Given the description of an element on the screen output the (x, y) to click on. 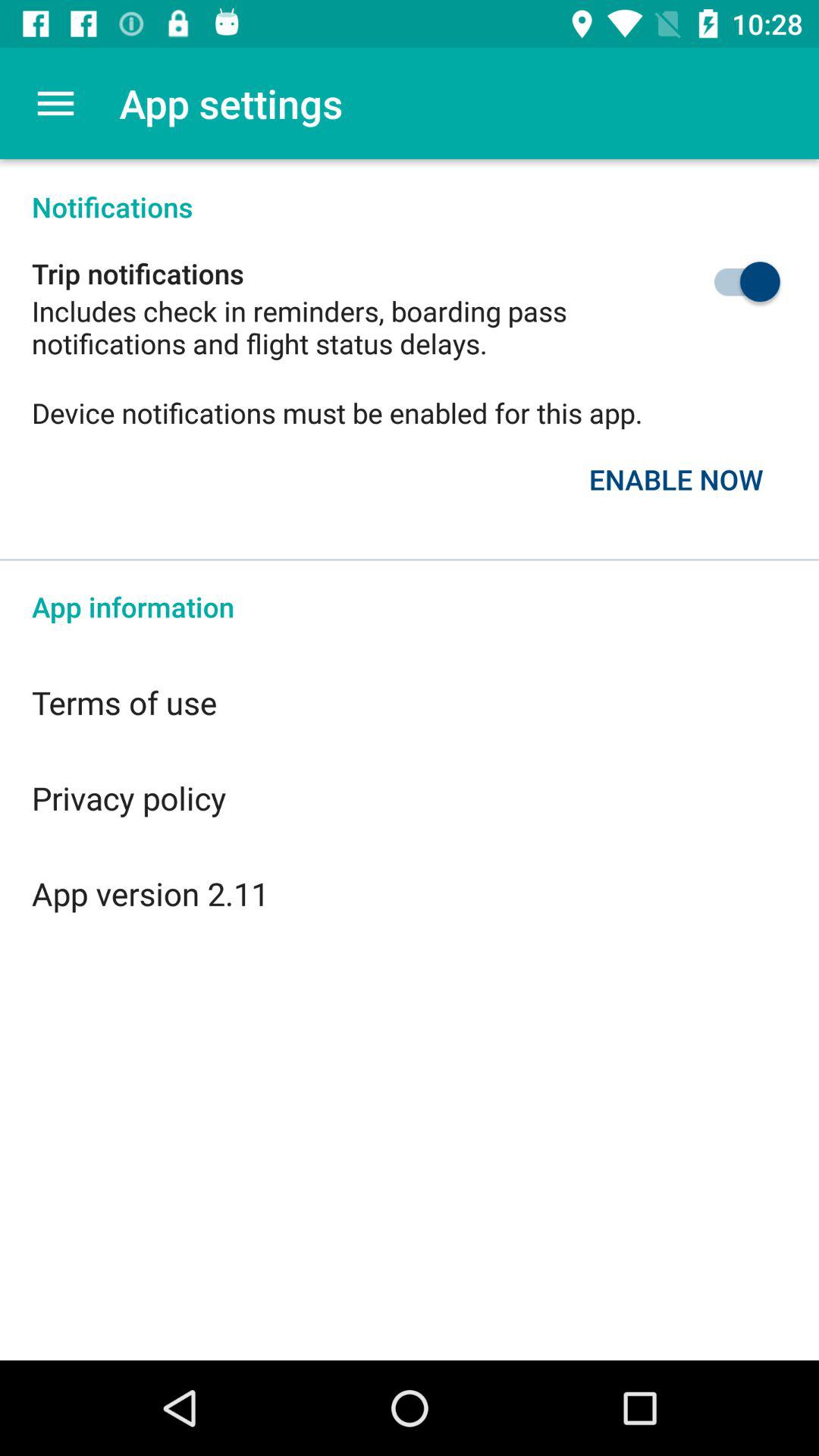
open the item above the notifications icon (55, 103)
